Given the description of an element on the screen output the (x, y) to click on. 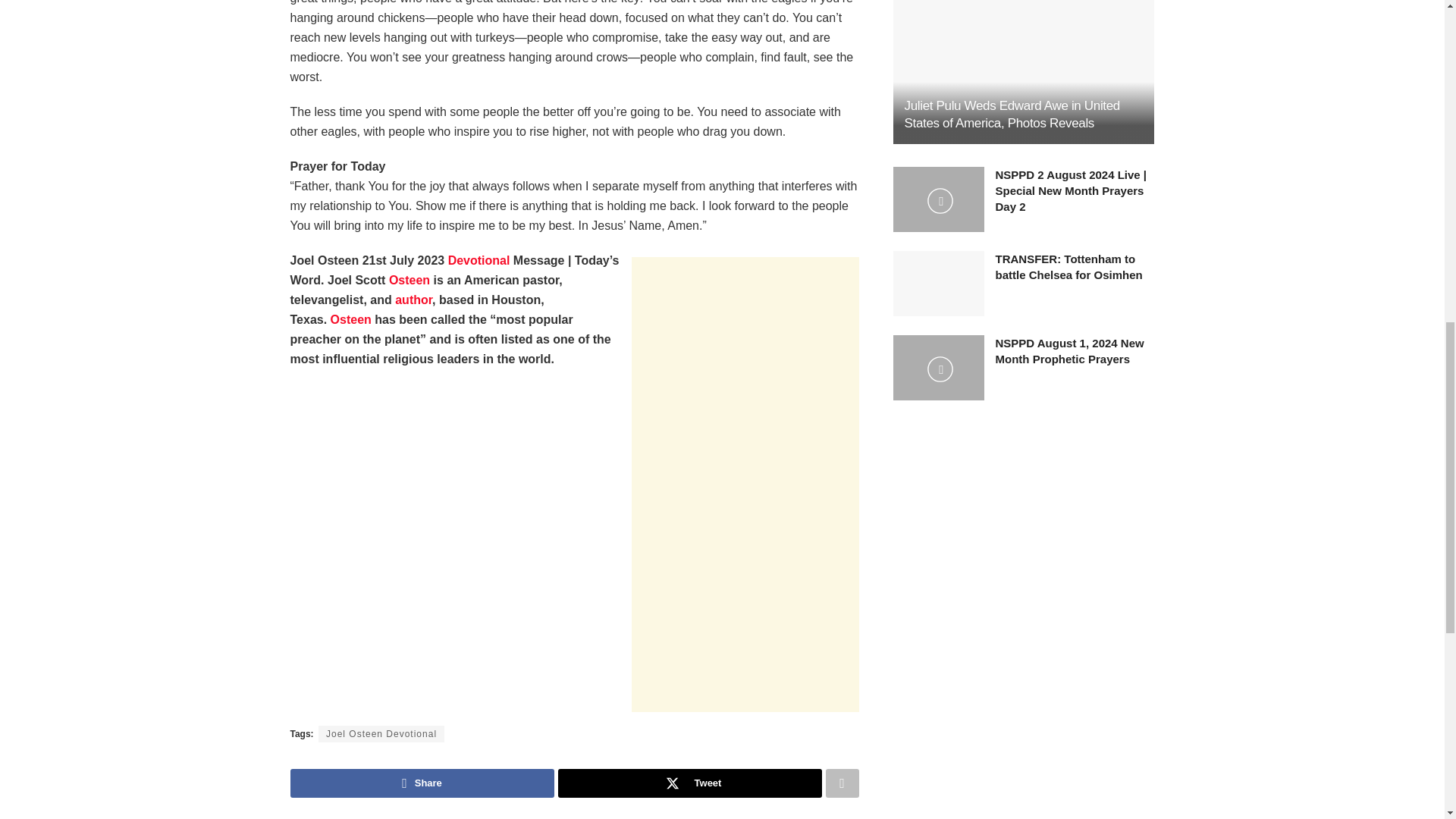
Osteen (350, 318)
Joel Osteen Devotional (381, 733)
Osteen (408, 279)
Devotional  (480, 259)
Share (421, 783)
Tweet (689, 783)
author (413, 299)
